Given the description of an element on the screen output the (x, y) to click on. 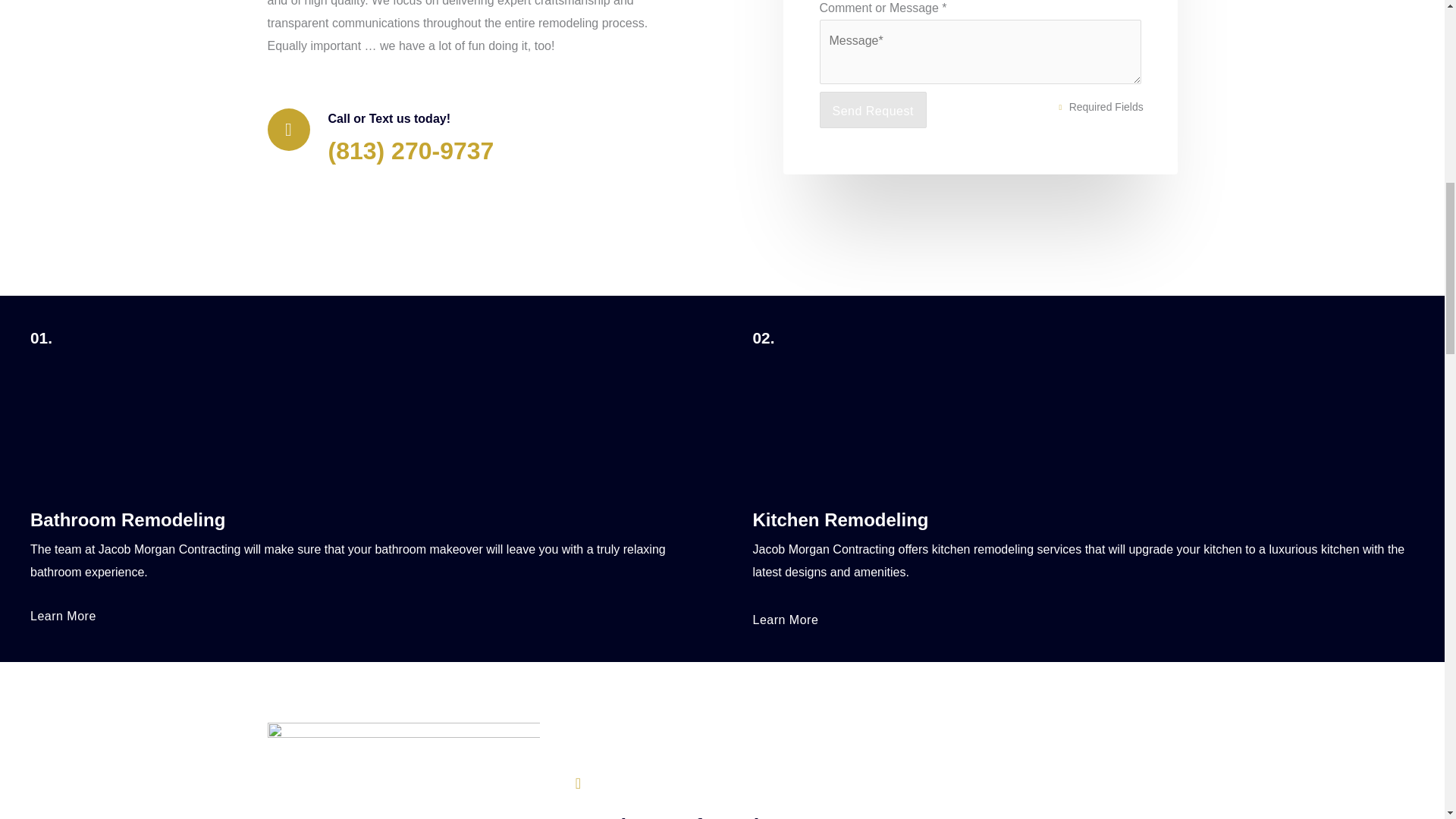
Call or Text us today! (388, 118)
Learn More (785, 620)
Send Request (872, 109)
Learn More (63, 616)
